Given the description of an element on the screen output the (x, y) to click on. 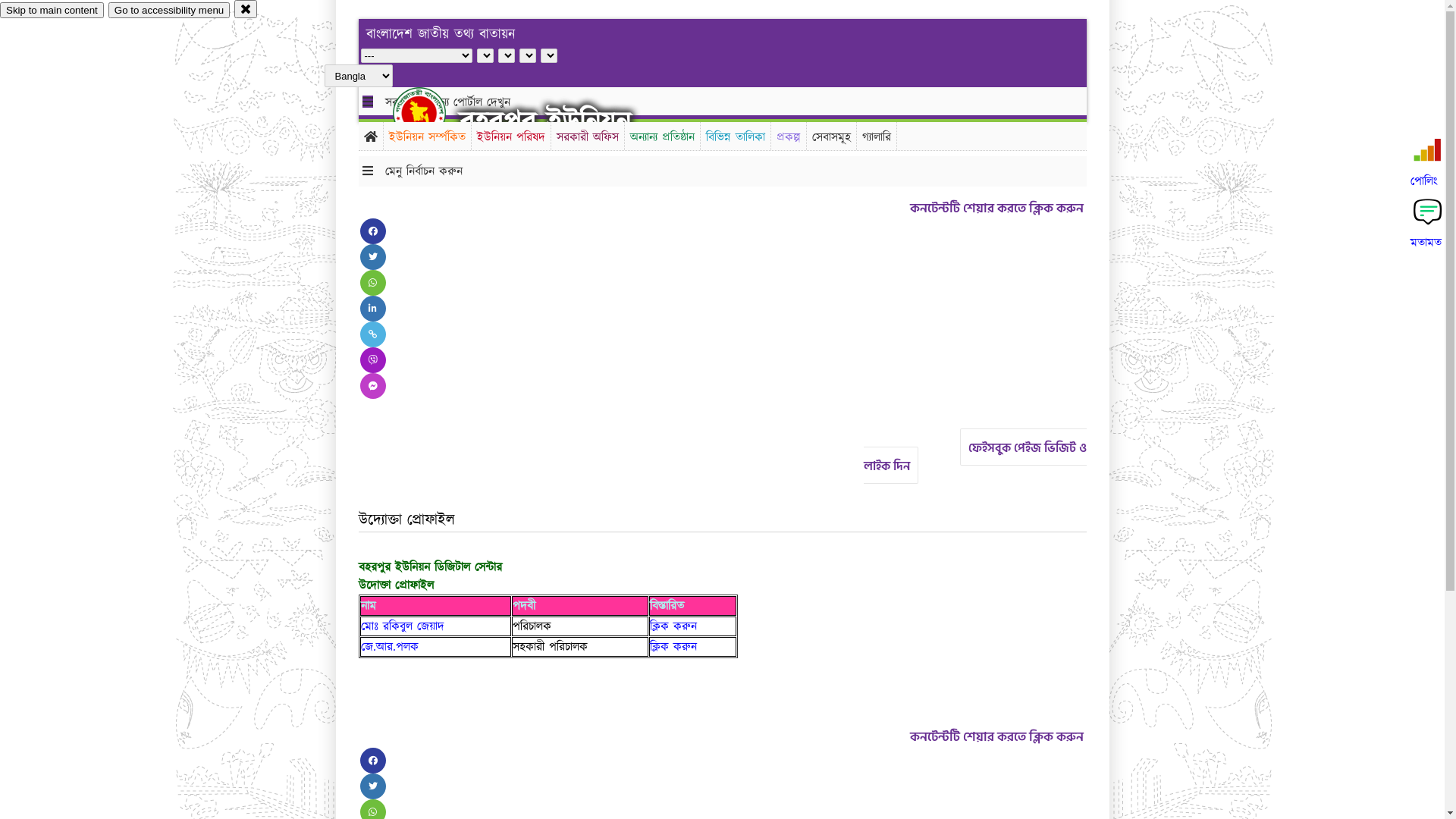
Skip to main content Element type: text (51, 10)
close Element type: hover (245, 9)
Go to accessibility menu Element type: text (168, 10)

                
             Element type: hover (431, 112)
